Given the description of an element on the screen output the (x, y) to click on. 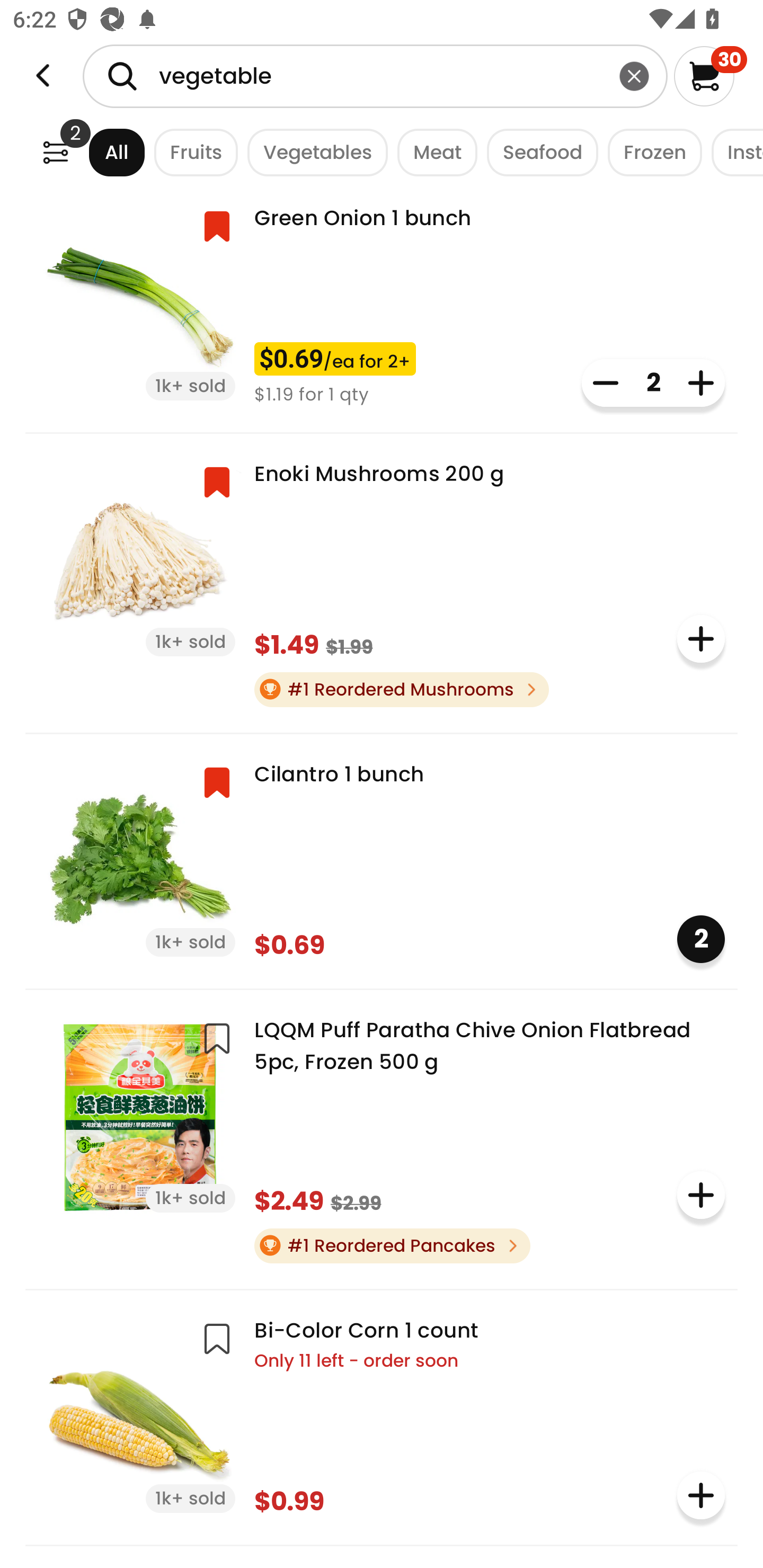
vegetable (374, 75)
30 (709, 75)
Weee! (42, 76)
Weee! (55, 151)
All (99, 151)
Fruits (191, 151)
Vegetables (312, 151)
Meat (432, 151)
Seafood (537, 151)
Frozen (649, 151)
Cilantro 1 bunch 1k+ sold $0.69 2 (381, 859)
2 (700, 938)
